Given the description of an element on the screen output the (x, y) to click on. 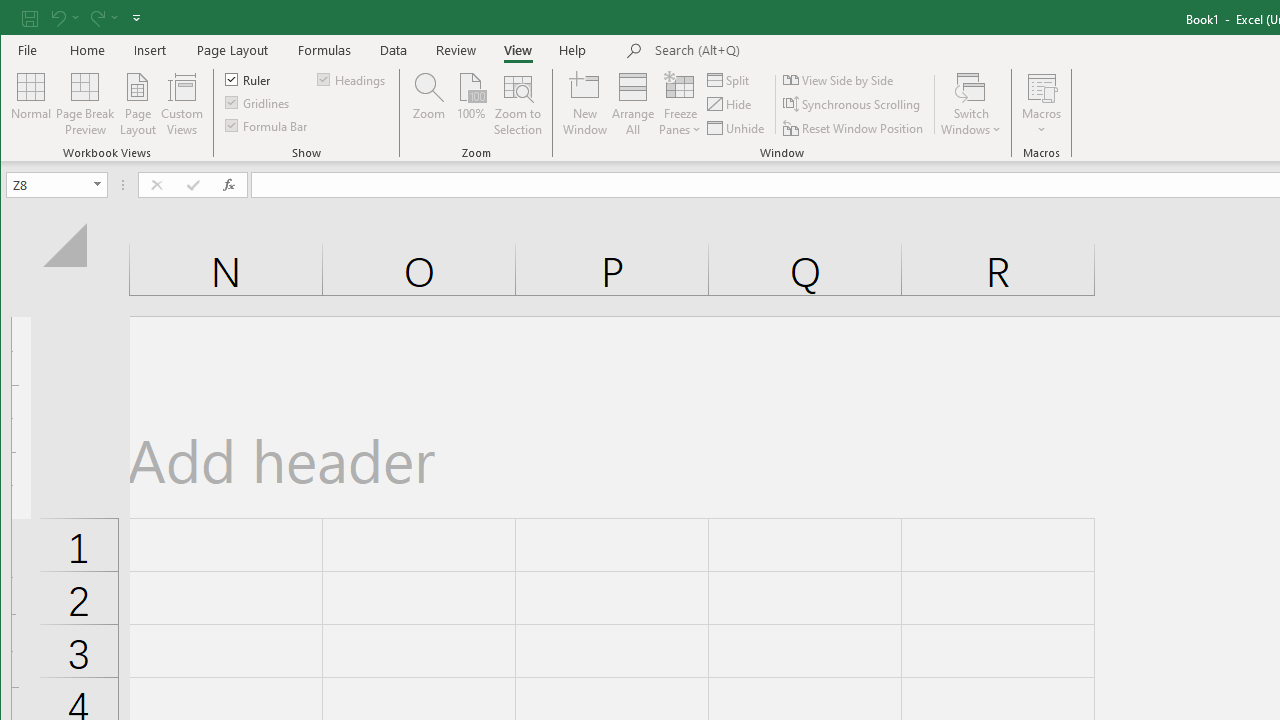
Hide (730, 103)
Zoom to Selection (518, 104)
Synchronous Scrolling (852, 103)
Ruler (248, 78)
Freeze Panes (680, 104)
100% (470, 104)
Reset Window Position (854, 127)
